Given the description of an element on the screen output the (x, y) to click on. 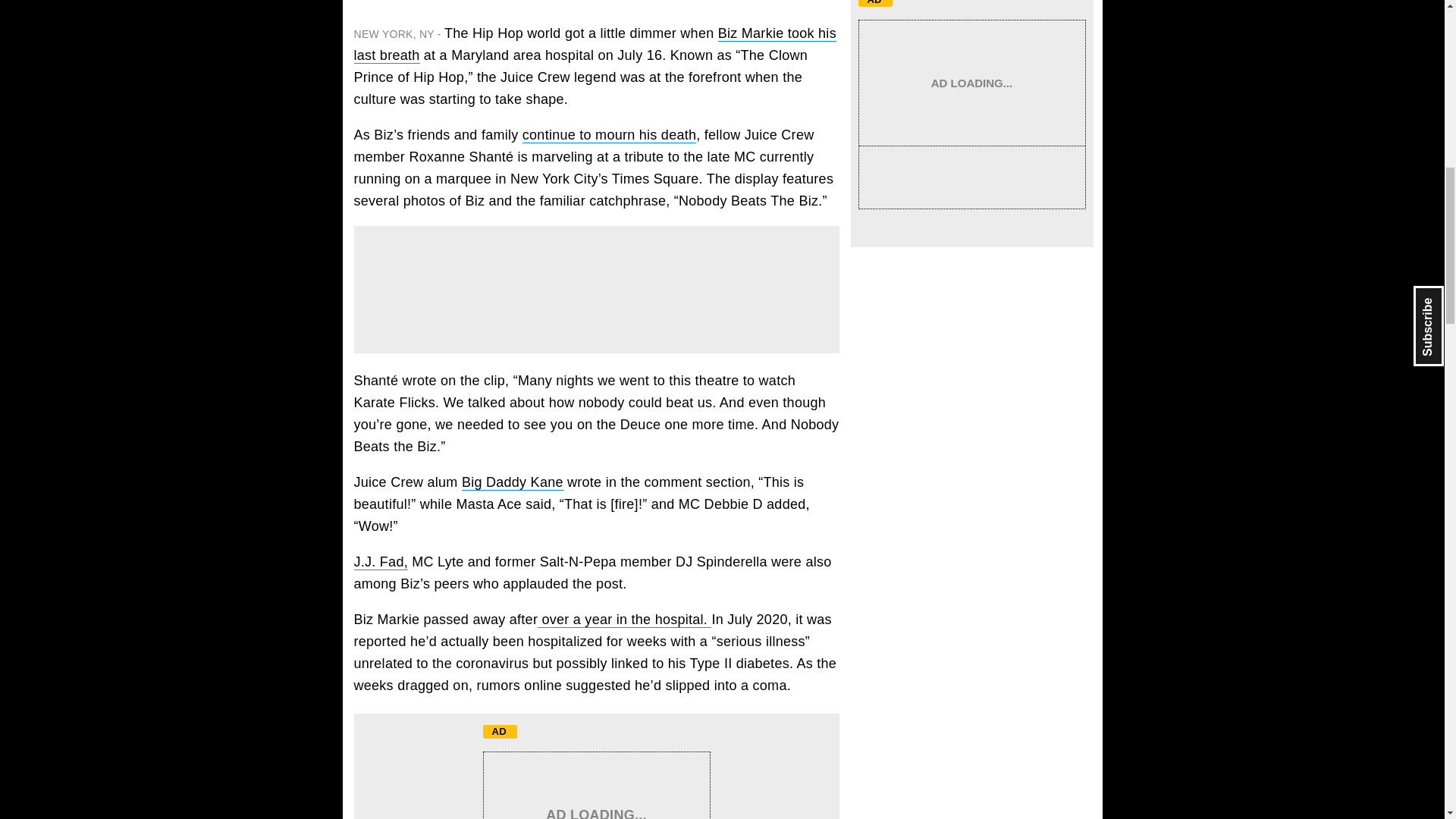
J.J. Fad, (380, 562)
continue to mourn his death (608, 135)
over a year in the hospital.  (624, 619)
Big Daddy Kane (512, 482)
Biz Markie took his last breath (594, 44)
